Given the description of an element on the screen output the (x, y) to click on. 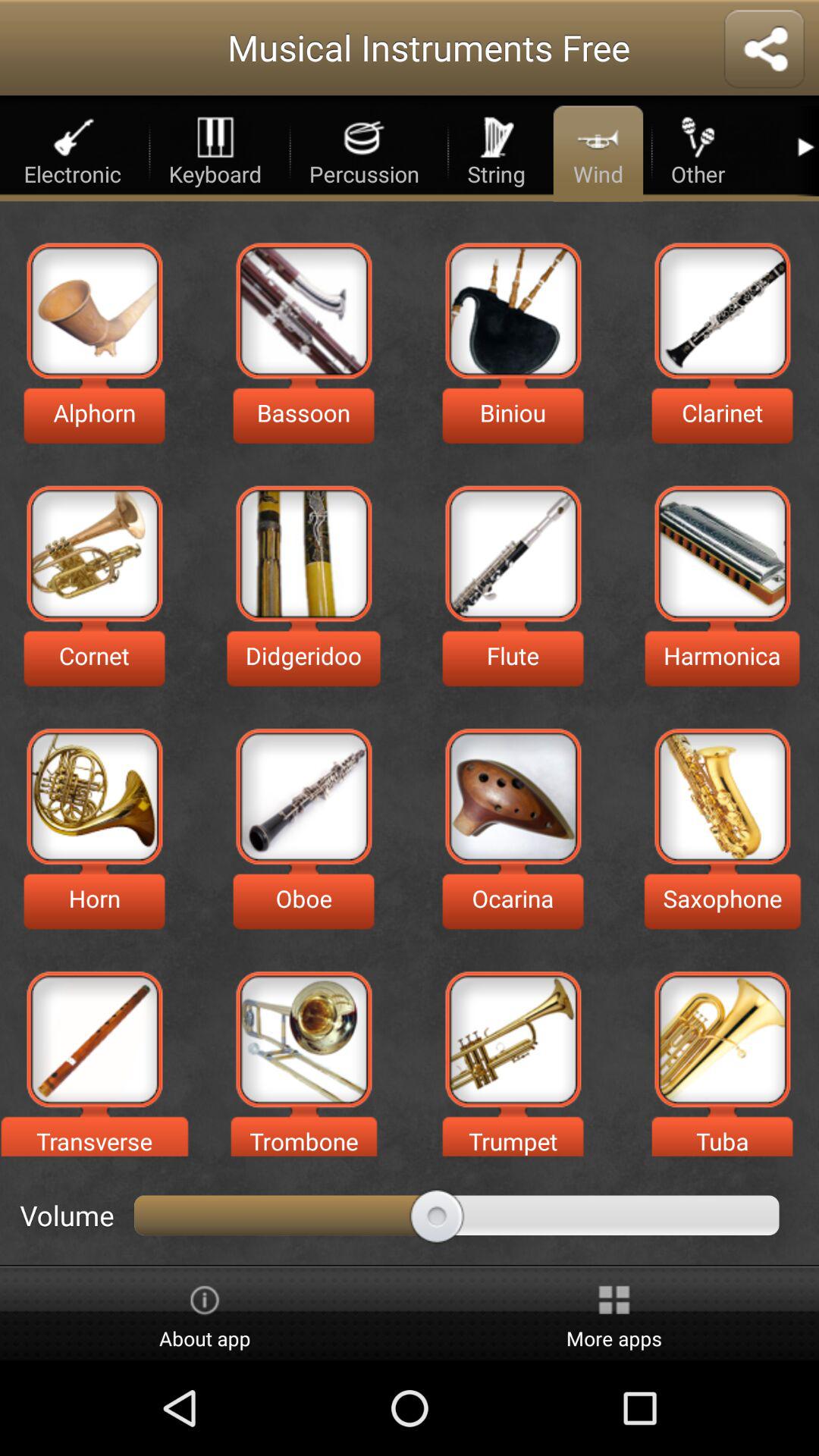
hear the sounds of a trumpet (513, 1039)
